Given the description of an element on the screen output the (x, y) to click on. 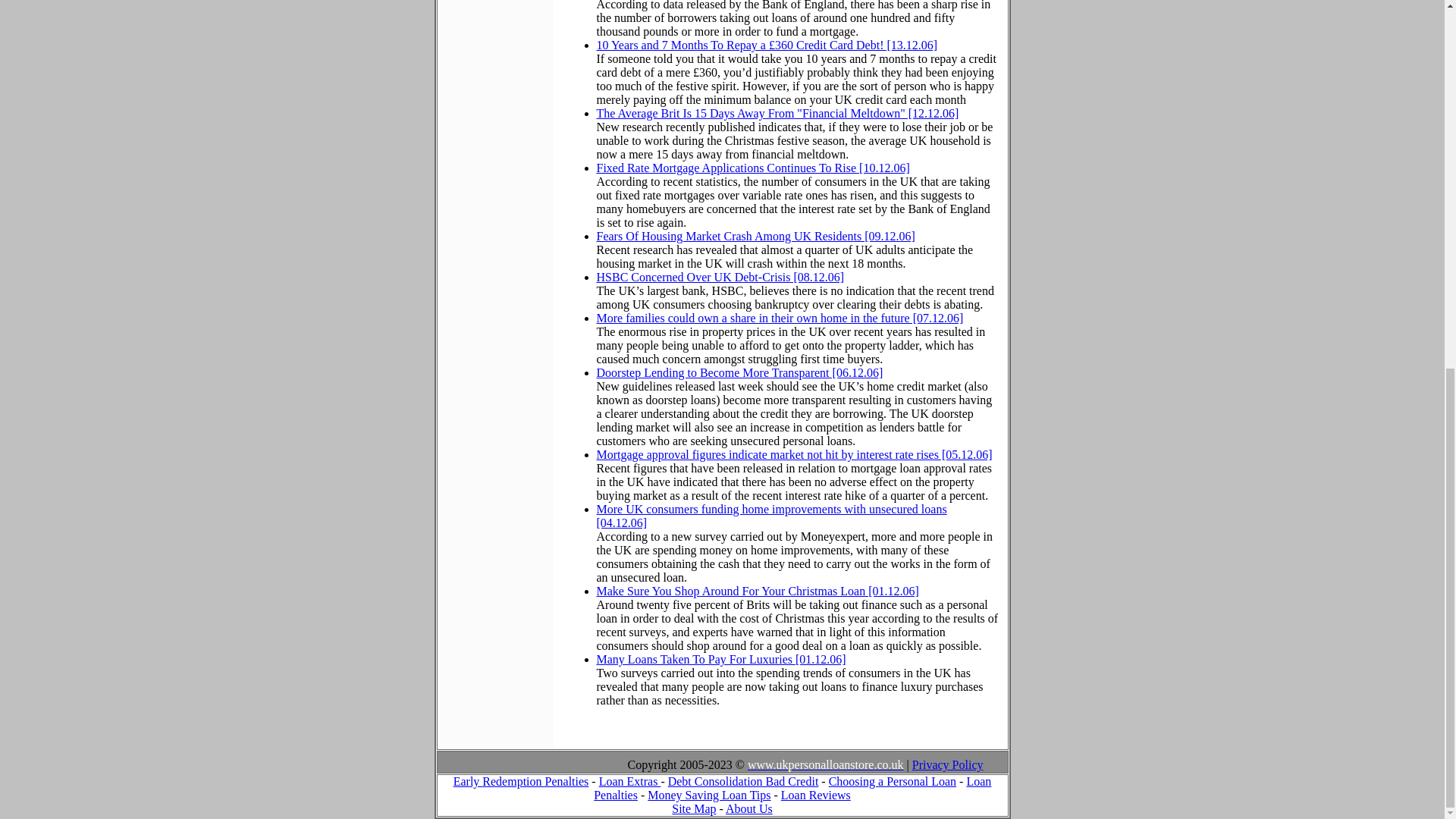
www.ukpersonalloanstore.co.uk (826, 764)
